Given the description of an element on the screen output the (x, y) to click on. 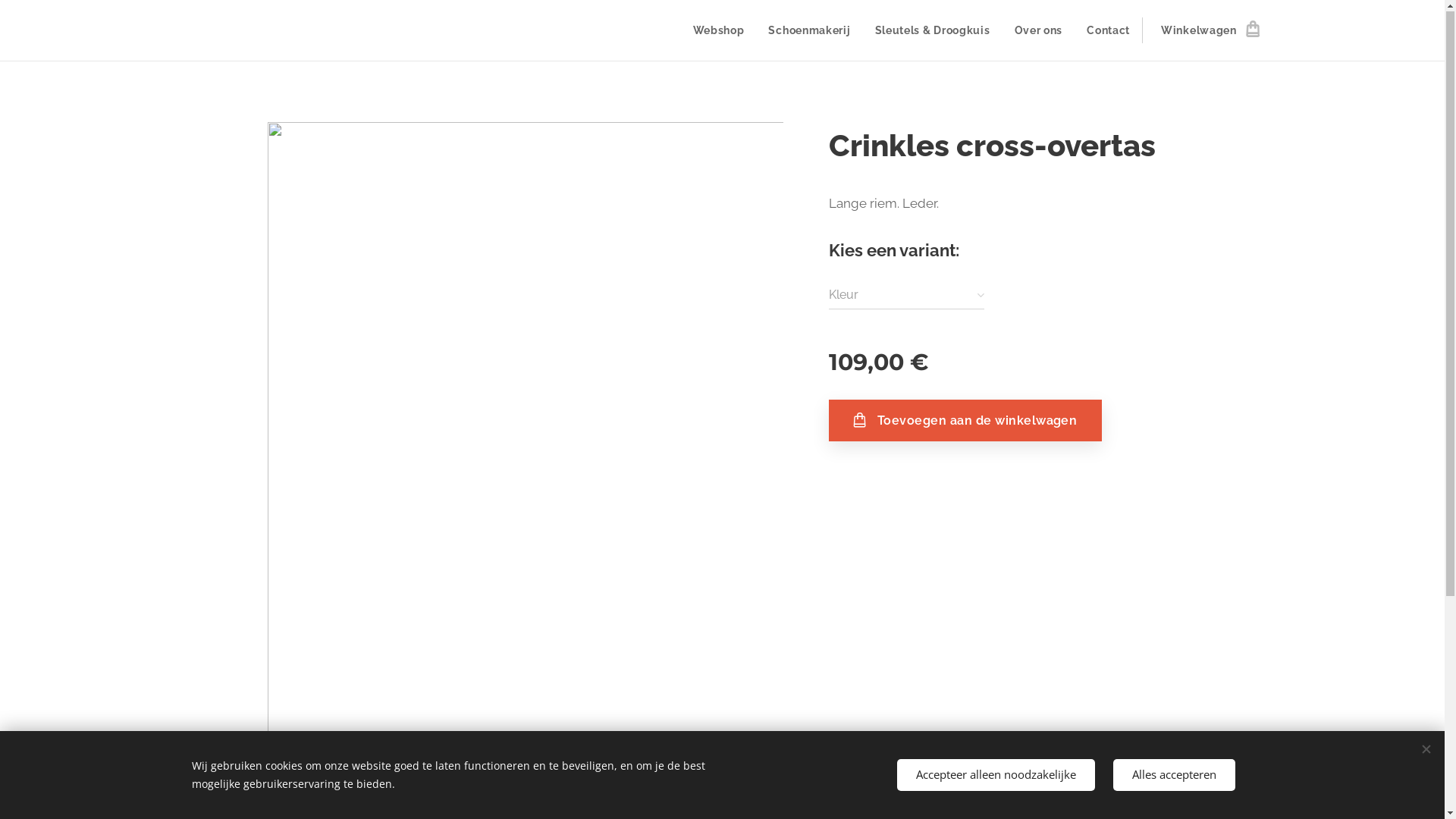
Contact Element type: text (1108, 31)
Over ons Element type: text (1038, 31)
Sleutels & Droogkuis Element type: text (932, 31)
Toevoegen aan de winkelwagen Element type: text (964, 421)
Alles accepteren Element type: text (1174, 774)
Webshop Element type: text (722, 31)
Schoenmakerij Element type: text (809, 31)
Accepteer alleen noodzakelijke Element type: text (995, 774)
Winkelwagen Element type: text (1204, 31)
